Given the description of an element on the screen output the (x, y) to click on. 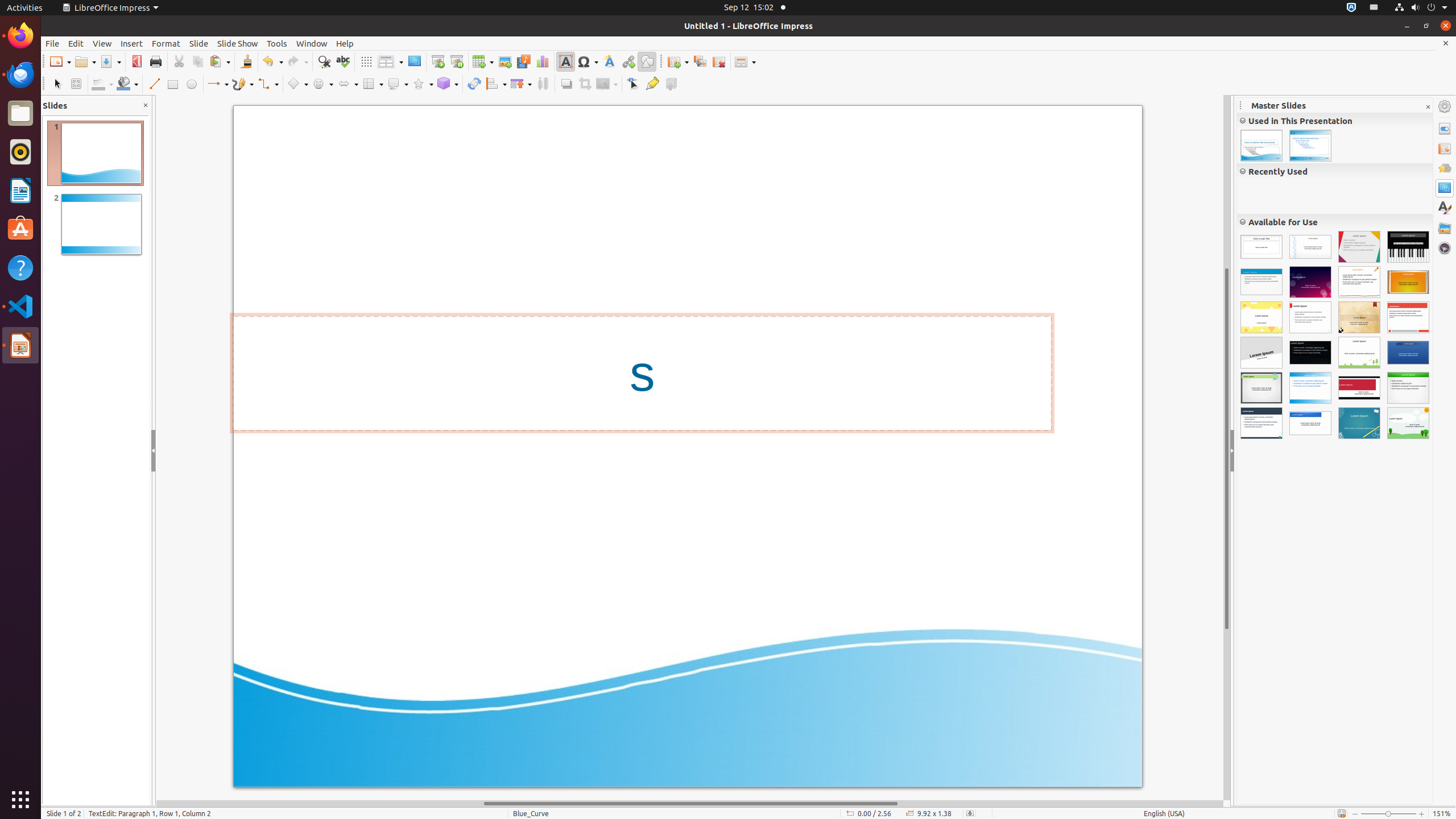
Visual Studio Code Element type: push-button (20, 306)
Horizontal scroll bar Element type: scroll-bar (689, 803)
Media Element type: push-button (523, 61)
Fontwork Style Element type: toggle-button (609, 61)
Text Box Element type: push-button (565, 61)
